Given the description of an element on the screen output the (x, y) to click on. 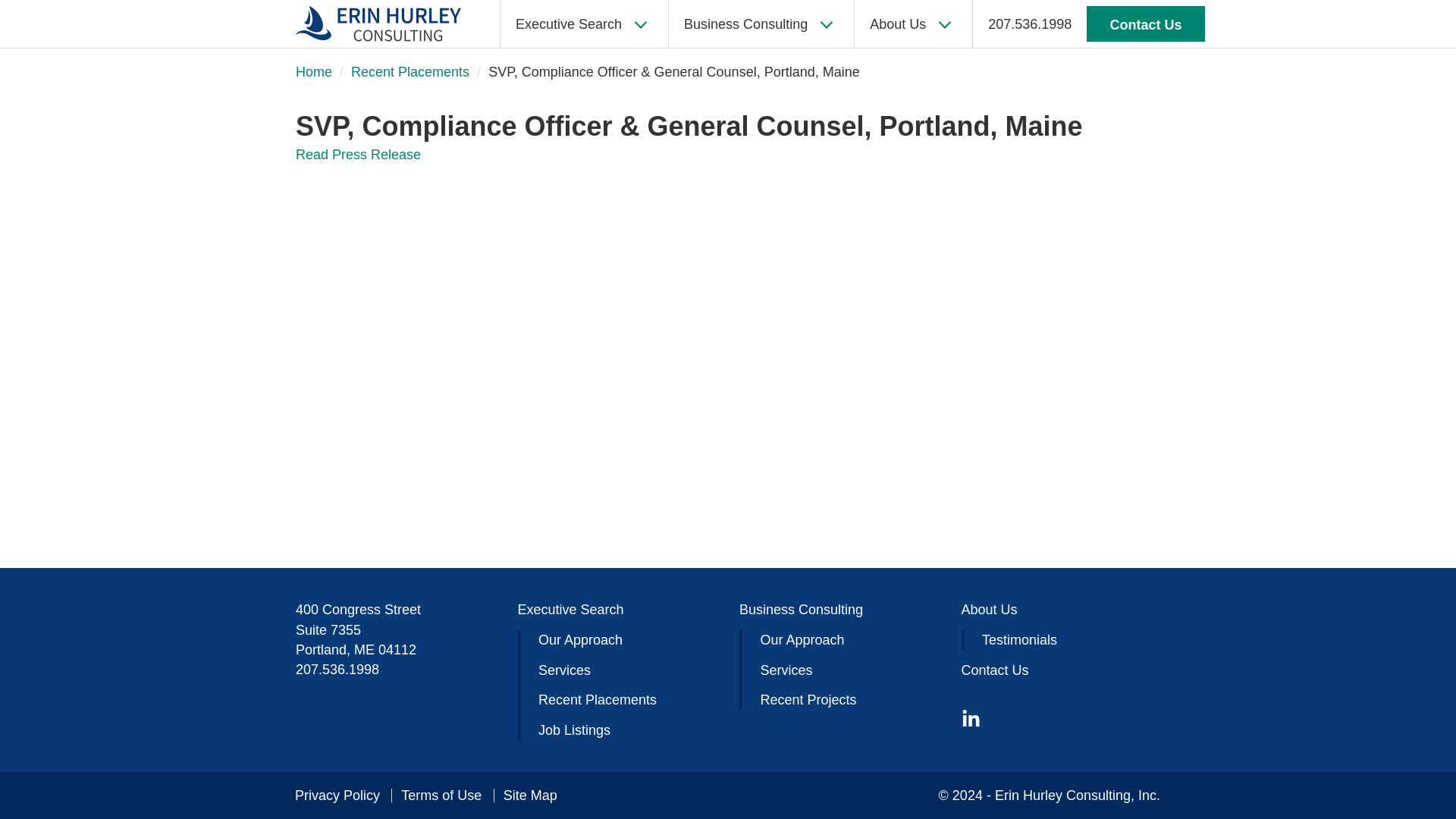
Services (786, 670)
About Us (988, 609)
Testimonials (1019, 639)
Executive Search (569, 609)
Read Press Release (357, 154)
Privacy Policy (341, 795)
Contact Us (1145, 23)
Recent Placements (597, 699)
Home (313, 71)
Business Consulting (760, 23)
Our Approach (580, 639)
Executive Search (583, 23)
About Us (912, 23)
Site Map (525, 795)
207.536.1998 (336, 669)
